Given the description of an element on the screen output the (x, y) to click on. 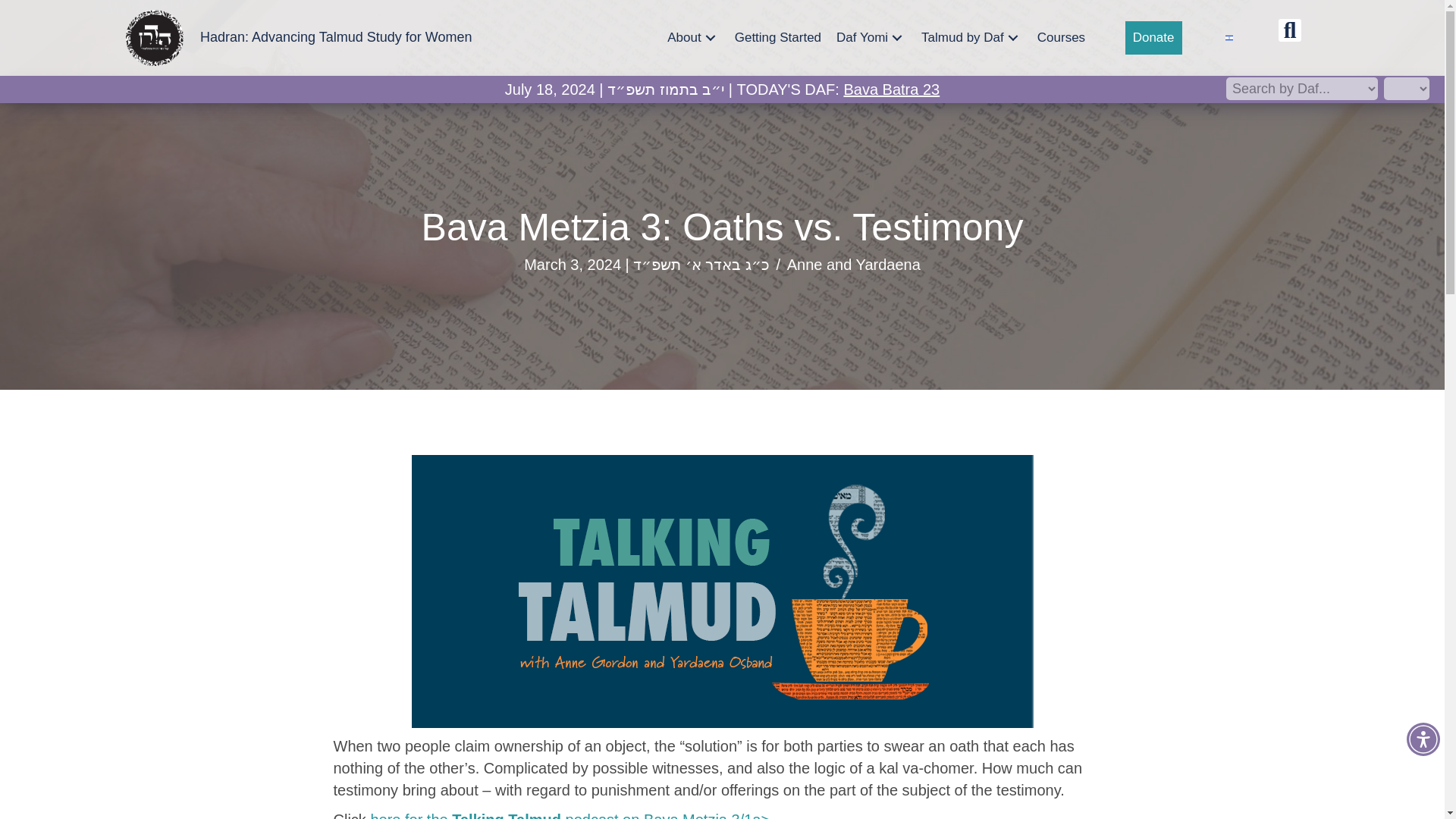
Accessibility Menu (1422, 738)
Hadran: Advancing Talmud Study for Women (335, 37)
Hadran: Advancing Talmud Study for Women (335, 37)
israel-flag-icon-64 (1229, 37)
